Given the description of an element on the screen output the (x, y) to click on. 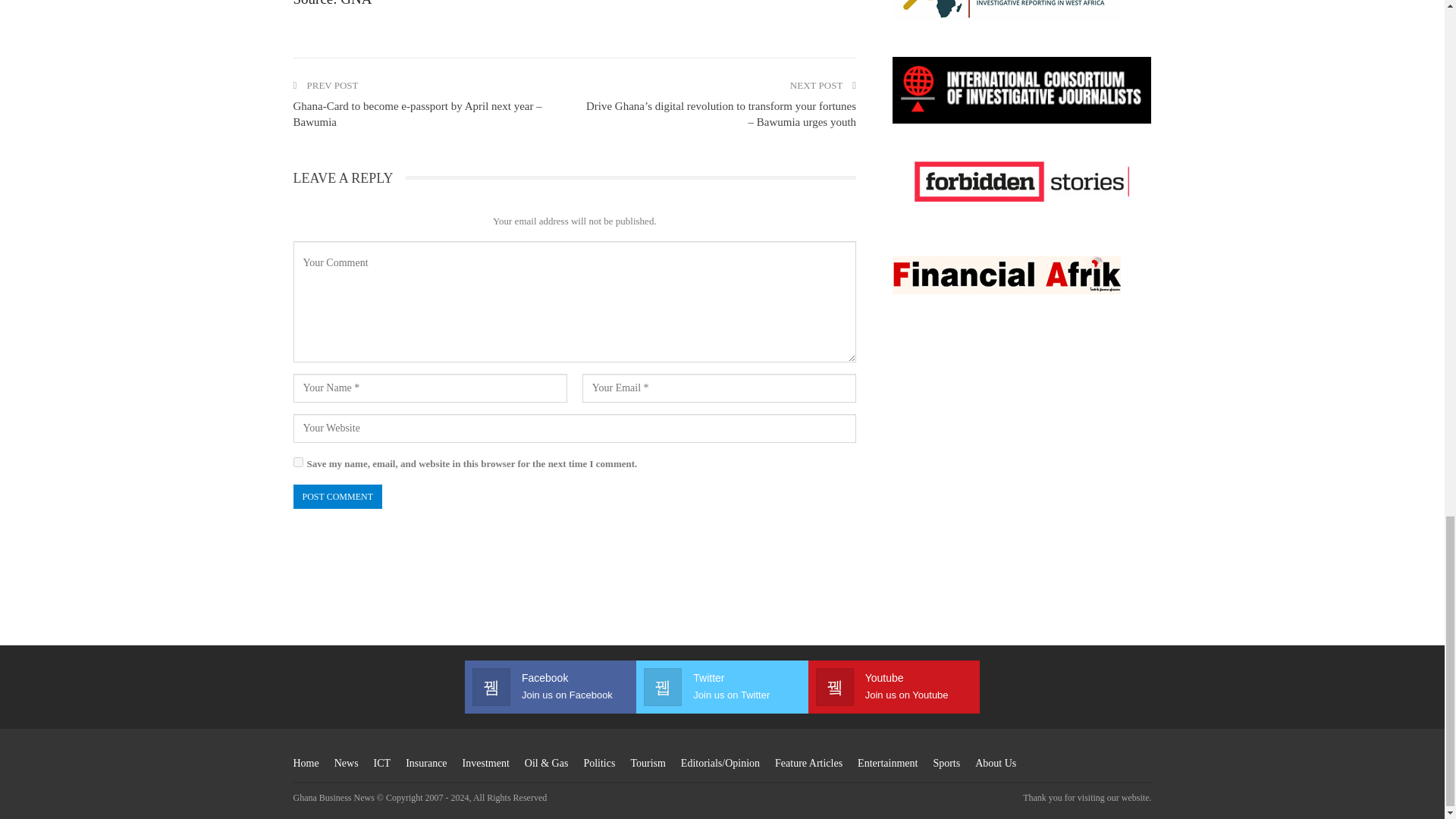
Post Comment (336, 496)
yes (297, 461)
